Given the description of an element on the screen output the (x, y) to click on. 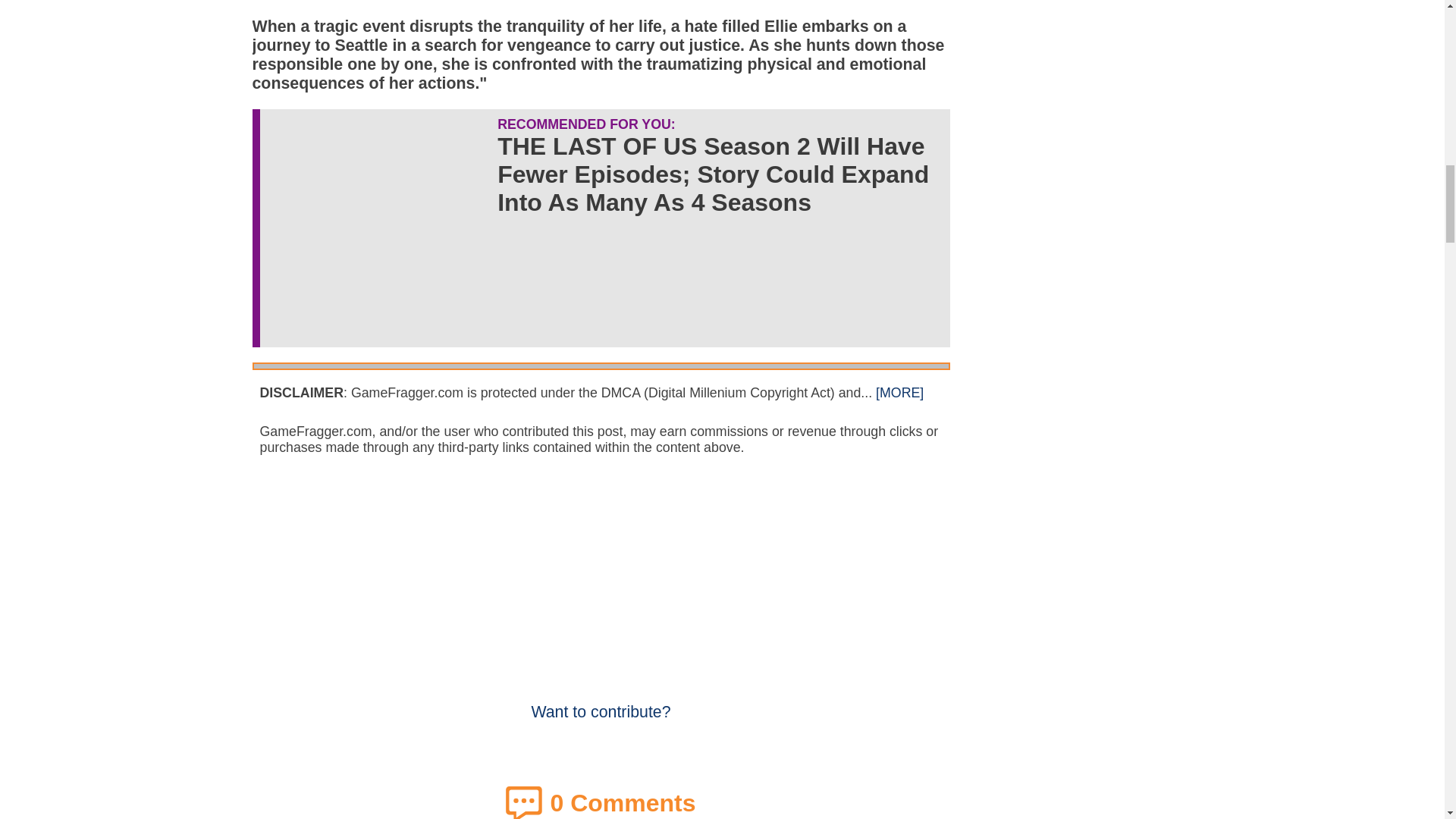
Find out how to become a contributor! (600, 702)
